Given the description of an element on the screen output the (x, y) to click on. 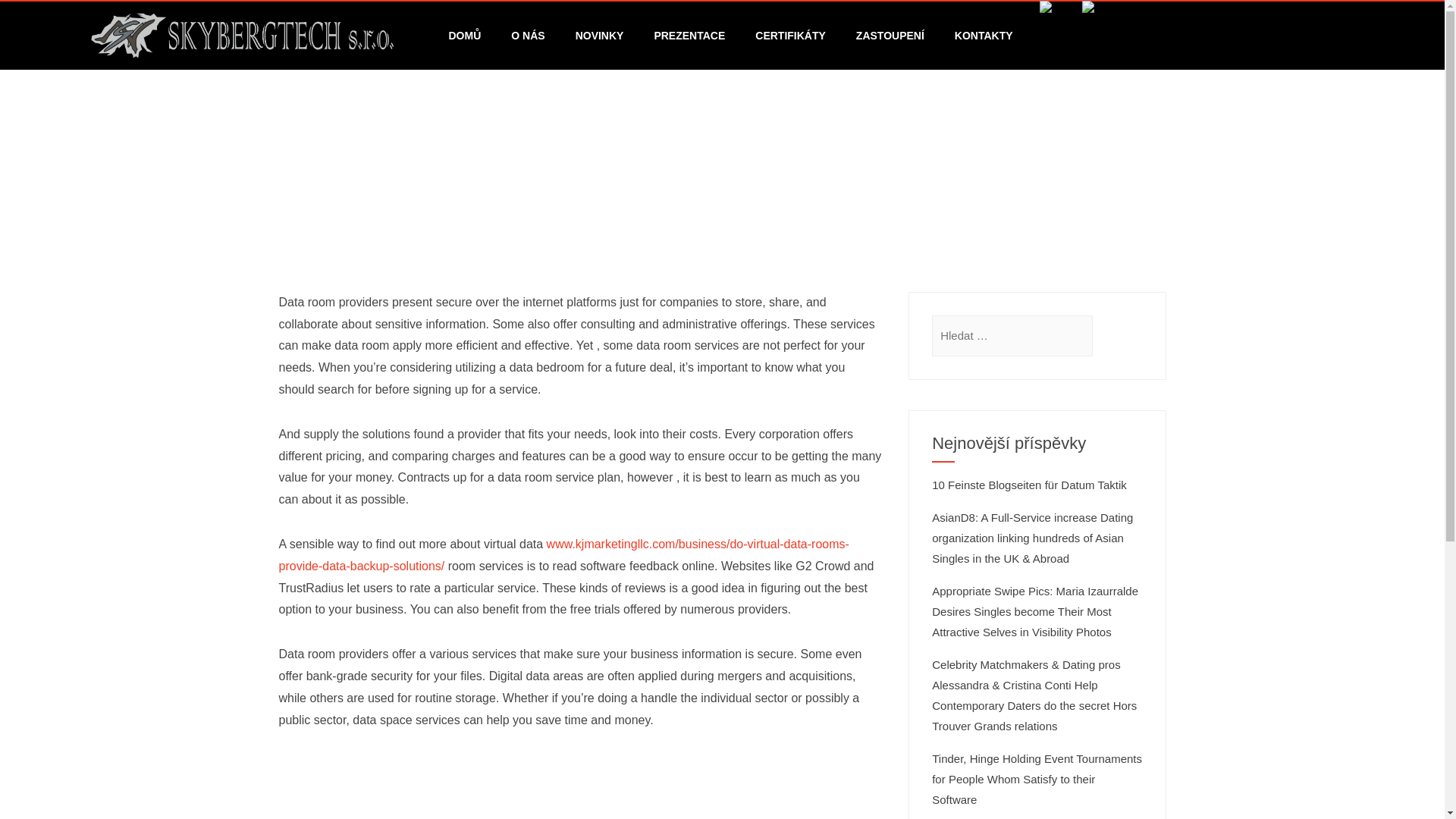
Hledat (31, 17)
KONTAKTY (983, 35)
English (1091, 6)
PREZENTACE (689, 35)
Czech (1049, 6)
Uncategorized (614, 191)
NOVINKY (599, 35)
